Given the description of an element on the screen output the (x, y) to click on. 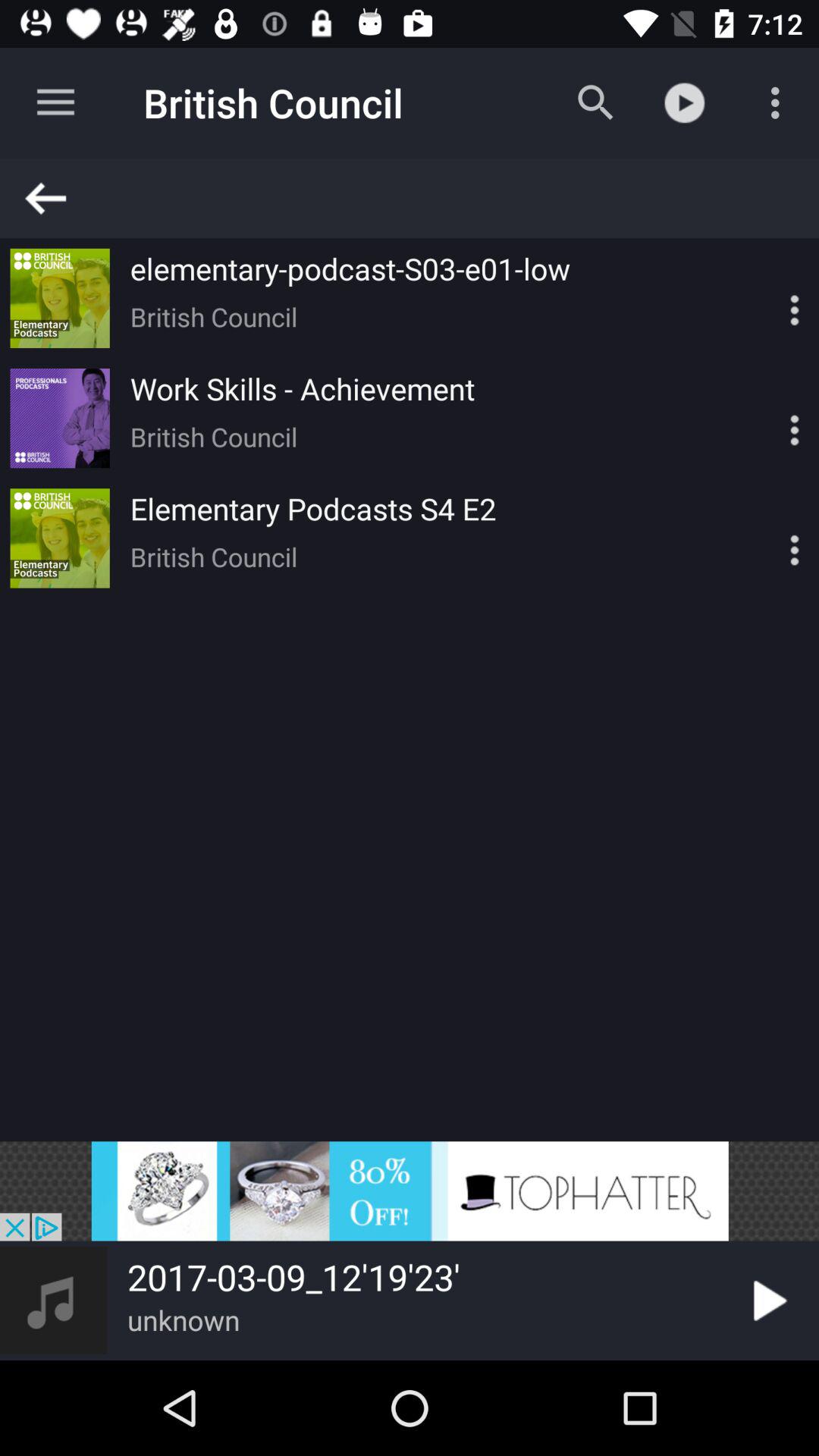
more details (768, 298)
